Given the description of an element on the screen output the (x, y) to click on. 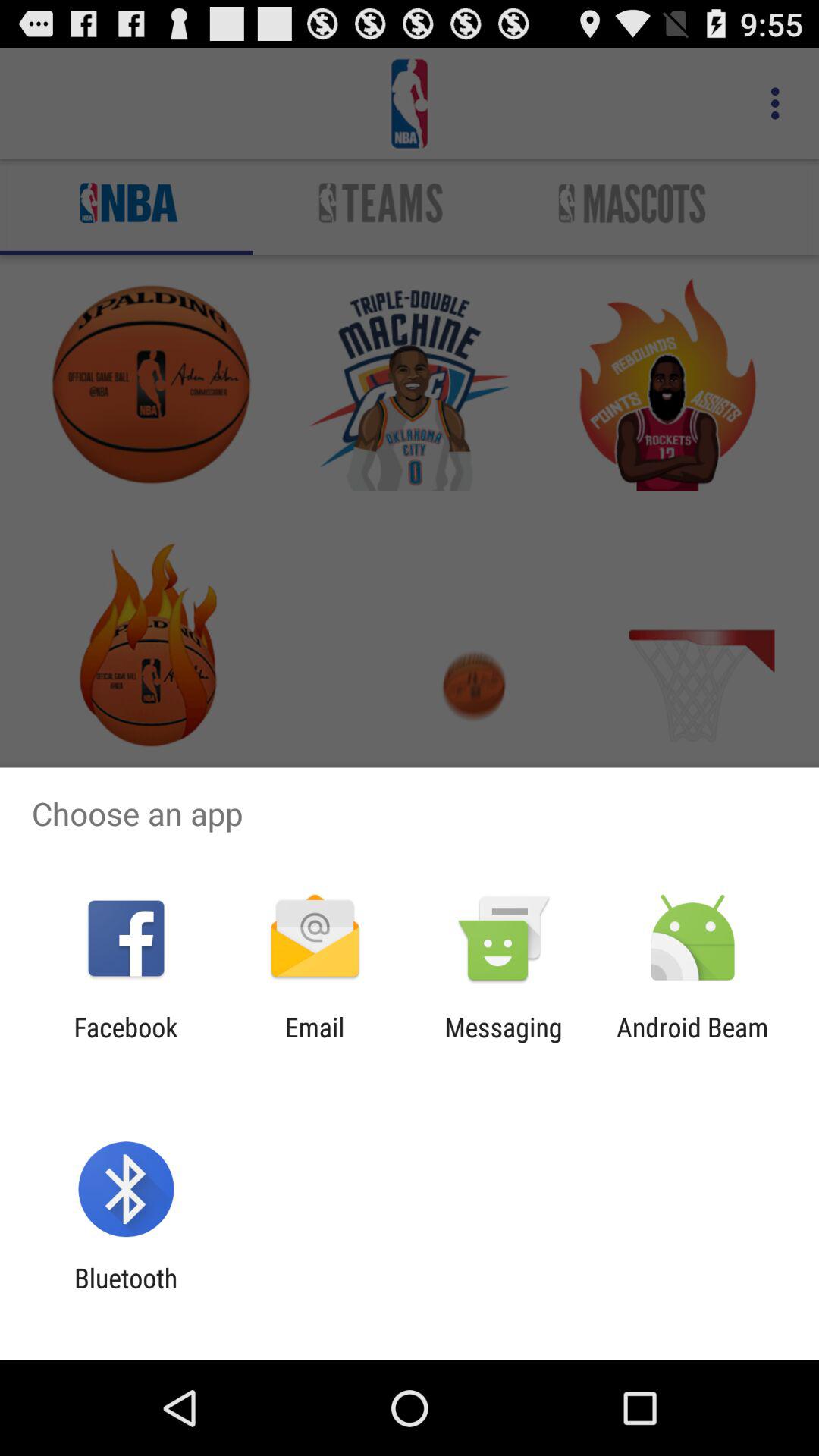
open item to the right of messaging (692, 1042)
